Given the description of an element on the screen output the (x, y) to click on. 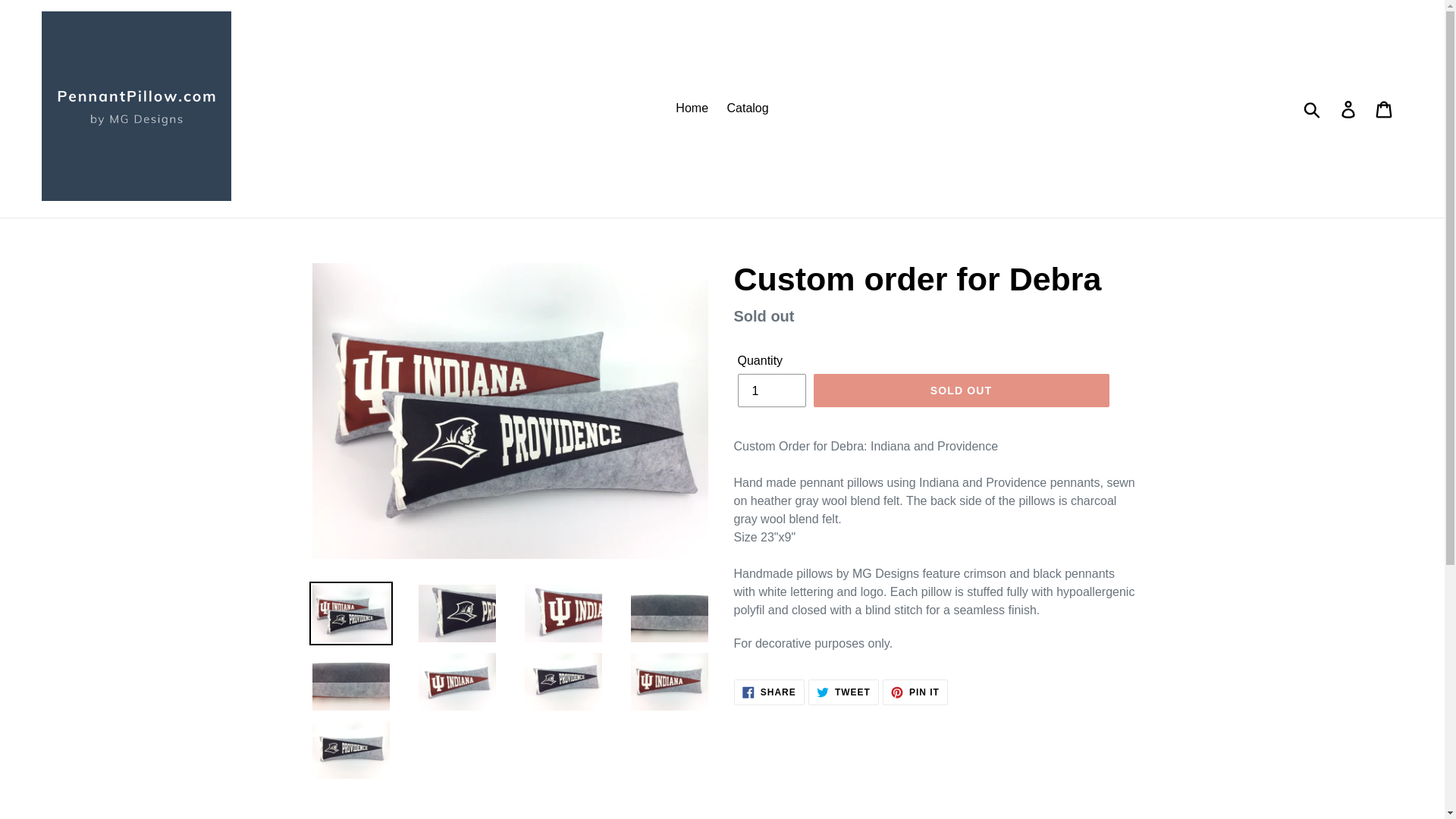
1 (770, 390)
Log in (769, 692)
Cart (1349, 108)
Home (914, 692)
Catalog (1385, 108)
Submit (692, 108)
SOLD OUT (747, 108)
